Given the description of an element on the screen output the (x, y) to click on. 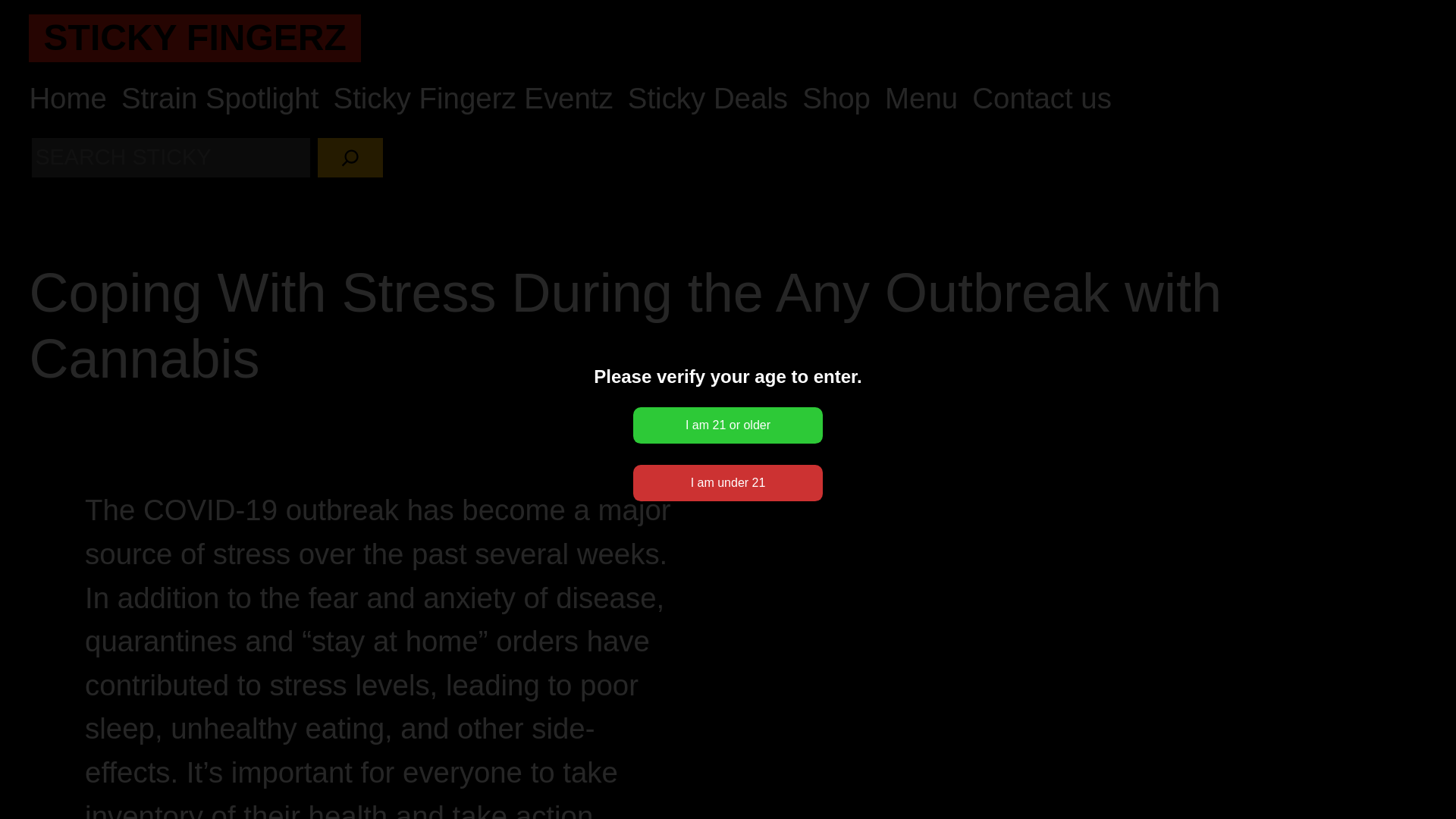
Home (67, 98)
Sticky Deals (707, 98)
Strain Spotlight (219, 98)
I am 21 or older (727, 425)
Contact us (1042, 98)
Shop (836, 98)
I am under 21 (727, 483)
Menu (921, 98)
Sticky Fingerz Eventz (472, 98)
STICKY FINGERZ (194, 37)
